Given the description of an element on the screen output the (x, y) to click on. 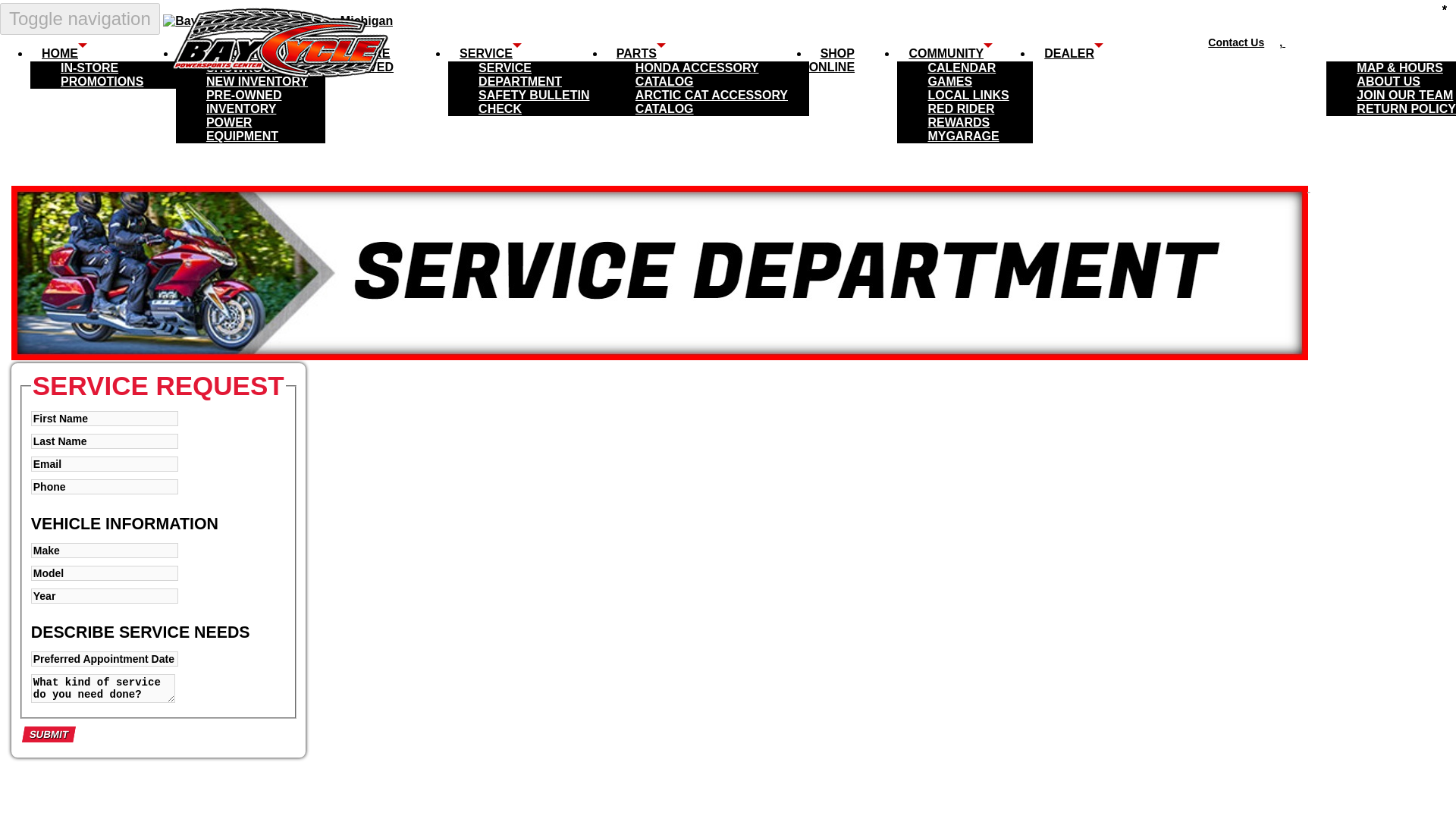
PRE-OWNED INVENTORY (244, 101)
Arctic Cat Accessory Catalog (710, 101)
HONDA ACCESSORY CATALOG (696, 74)
MYGARAGE (962, 135)
Power Equipment (242, 128)
POWER EQUIPMENT (242, 128)
Pre-Owned Inventory (244, 101)
Get Paid to Race with Red Rider Rewards (960, 115)
SERVICE (490, 53)
LOCAL LINKS (968, 94)
GAMES (949, 81)
Games (949, 81)
Showroom (244, 67)
Inventory (227, 53)
Service (490, 53)
